Given the description of an element on the screen output the (x, y) to click on. 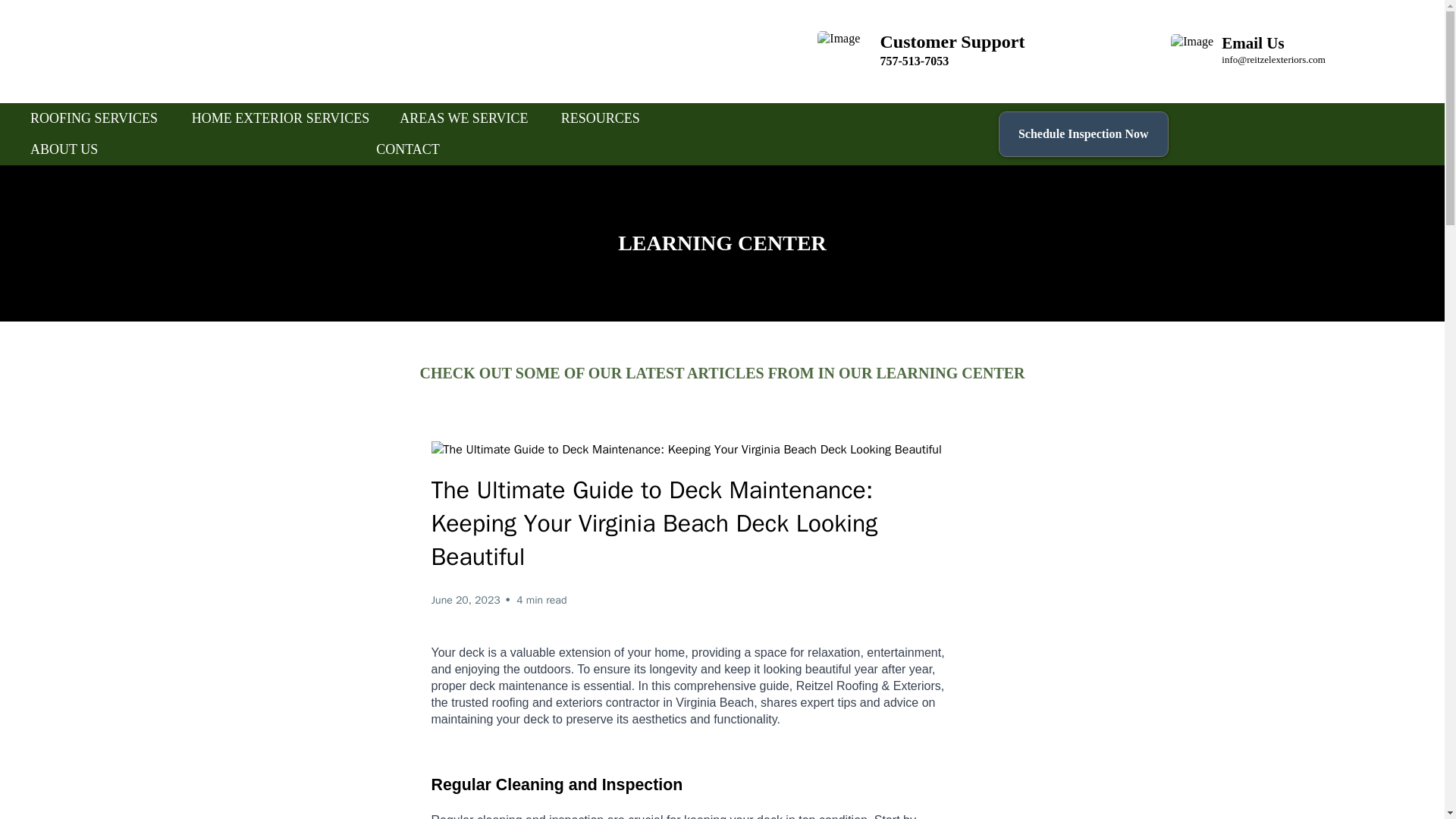
CONTACT (407, 149)
Schedule Inspection Now (1083, 134)
AREAS WE SERVICE (463, 118)
757-513-7053 (914, 60)
ROOFING SERVICES (93, 118)
HOME EXTERIOR SERVICES (280, 118)
ABOUT US (63, 149)
RESOURCES (600, 118)
